Given the description of an element on the screen output the (x, y) to click on. 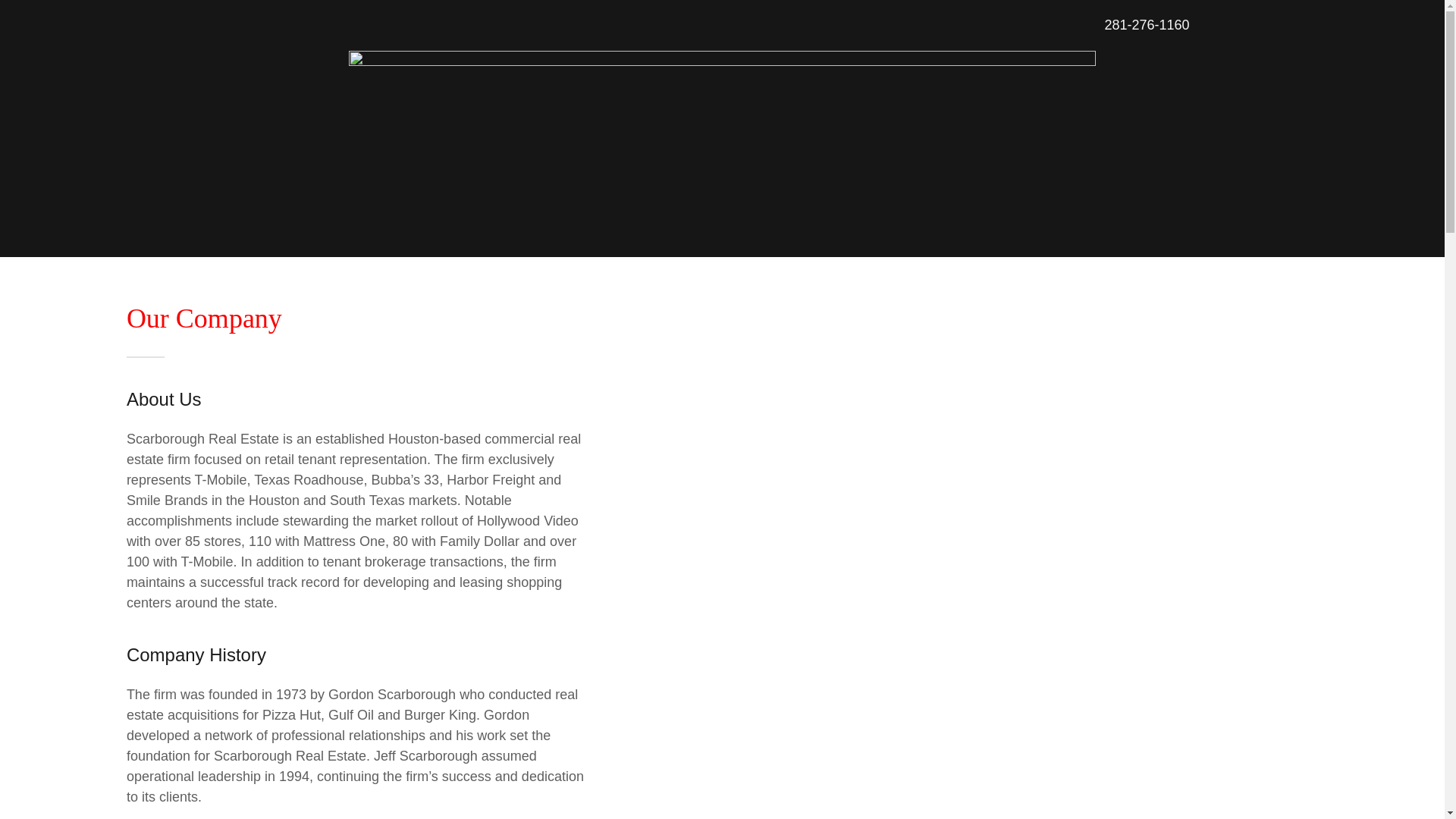
281-276-1160 (1146, 24)
